Given the description of an element on the screen output the (x, y) to click on. 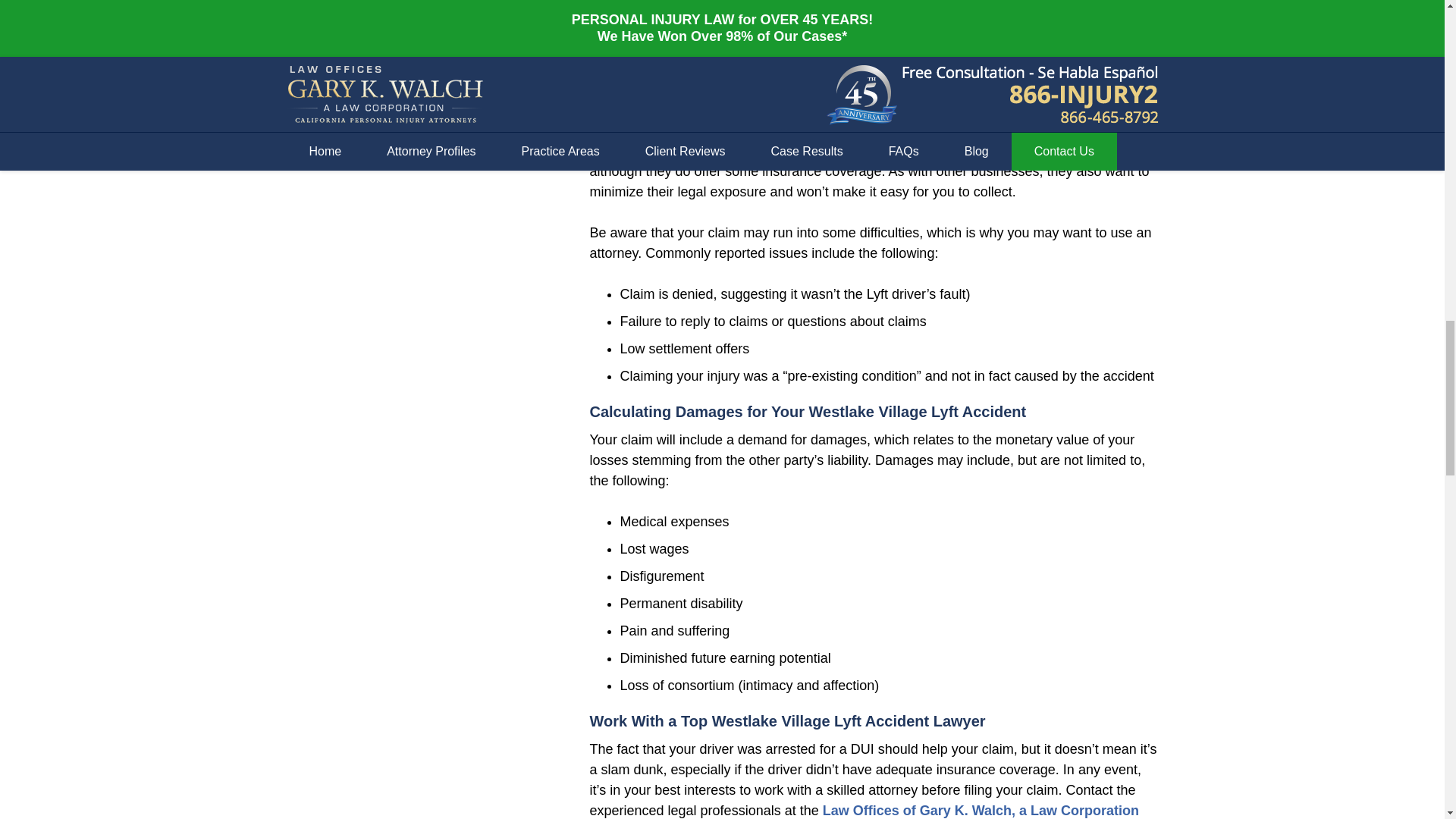
Law Offices of Gary K. Walch, a Law Corporation (980, 810)
